Given the description of an element on the screen output the (x, y) to click on. 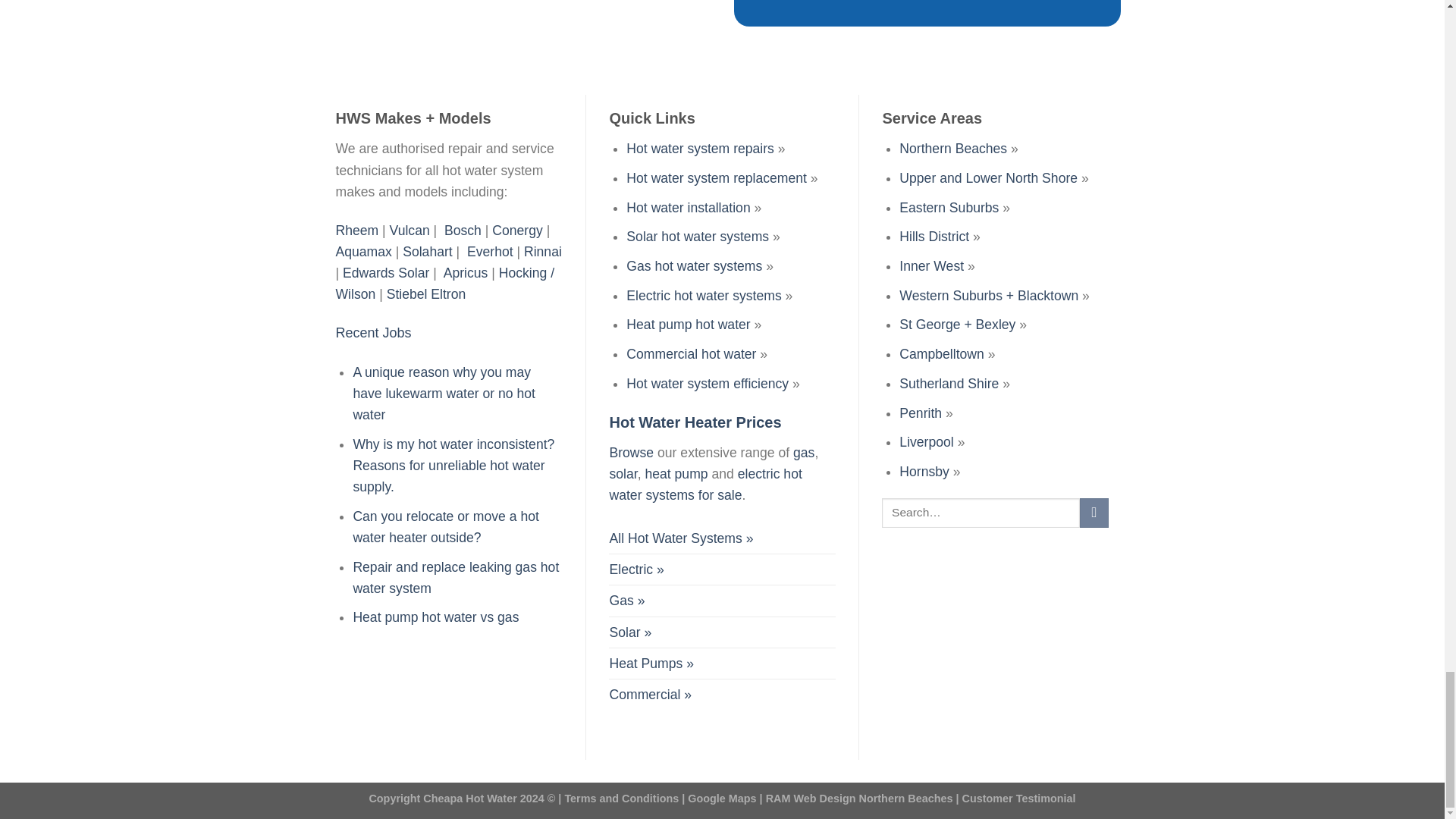
buy electric hot water system (635, 569)
buy solar hot water system (629, 632)
buy gas hot water system (626, 600)
